Given the description of an element on the screen output the (x, y) to click on. 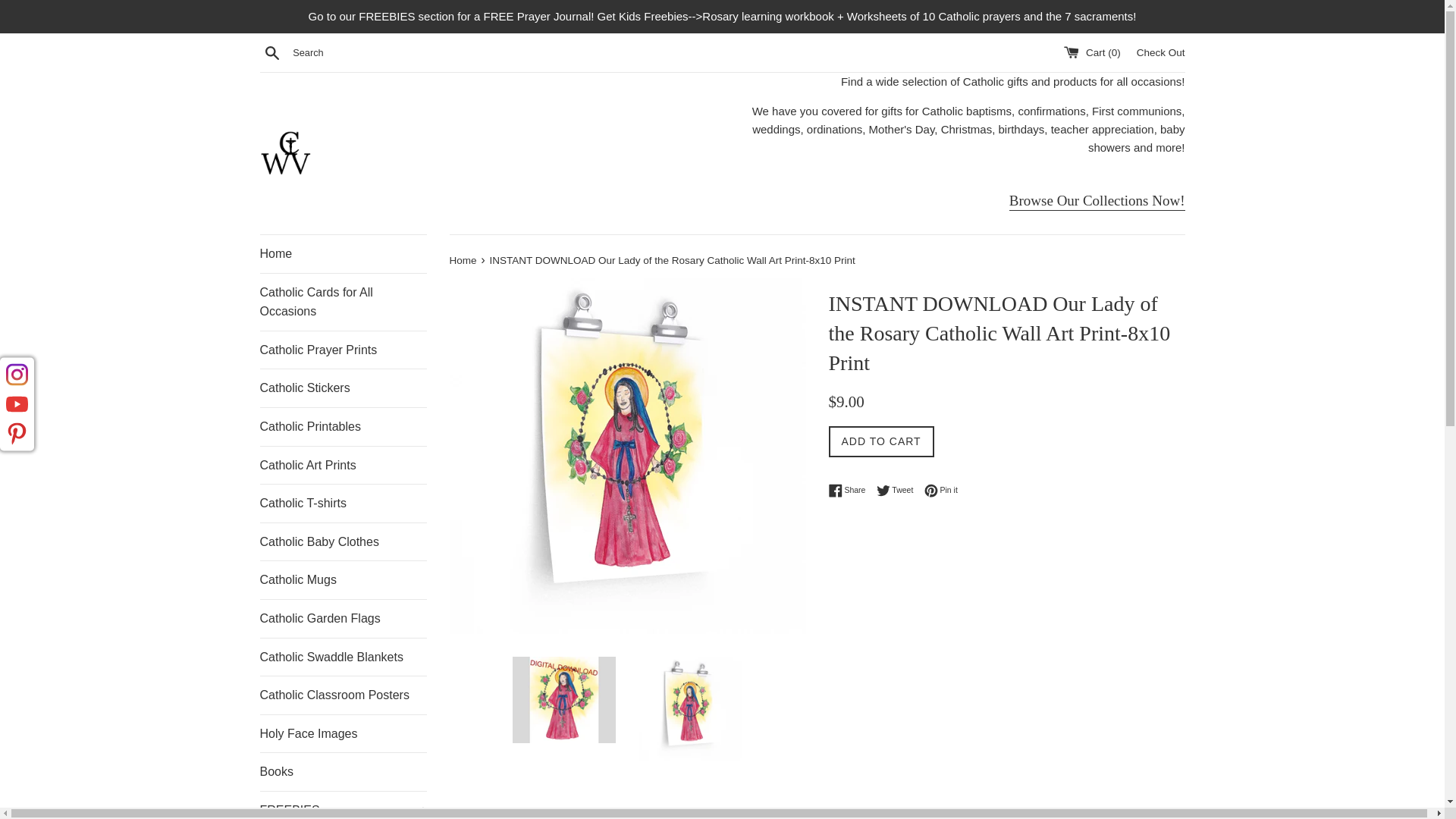
Holy Face Images (342, 733)
Catholic Classroom Posters (342, 695)
Catholic Baby Clothes (342, 542)
Catholic Swaddle Blankets (342, 657)
Catholic Printables (342, 426)
All collections (898, 490)
Pin on Pinterest (1097, 201)
Tweet on Twitter (941, 490)
Catholic Cards for All Occasions (898, 490)
Search (342, 301)
Browse Our Collections Now! (271, 52)
Catholic Mugs (1097, 201)
Books (342, 579)
Catholic Garden Flags (342, 771)
